Given the description of an element on the screen output the (x, y) to click on. 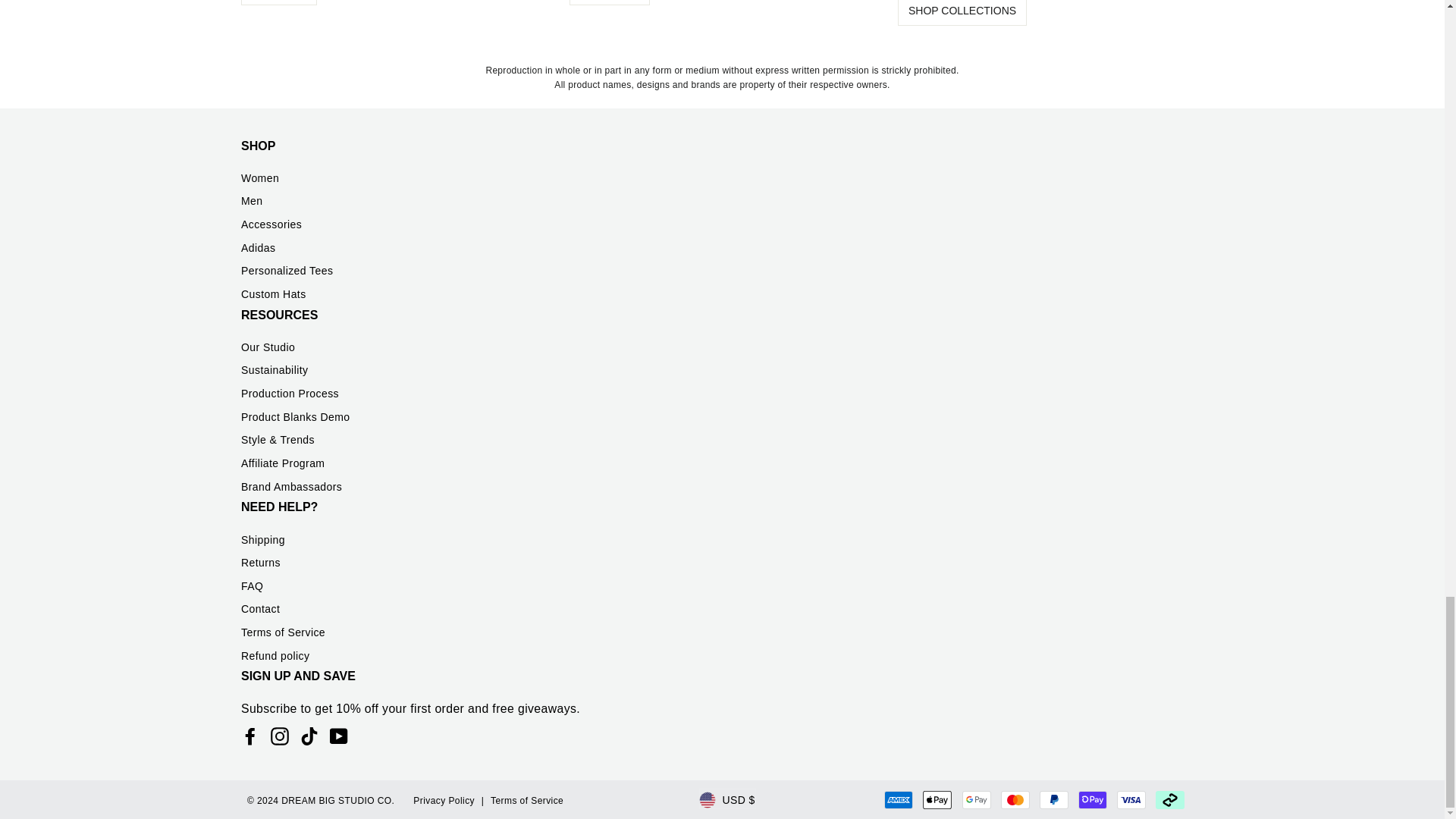
Dream BiG Studio on Facebook (250, 735)
Dream BiG Studio on TikTok (308, 735)
Dream BiG Studio on Instagram (279, 735)
